Given the description of an element on the screen output the (x, y) to click on. 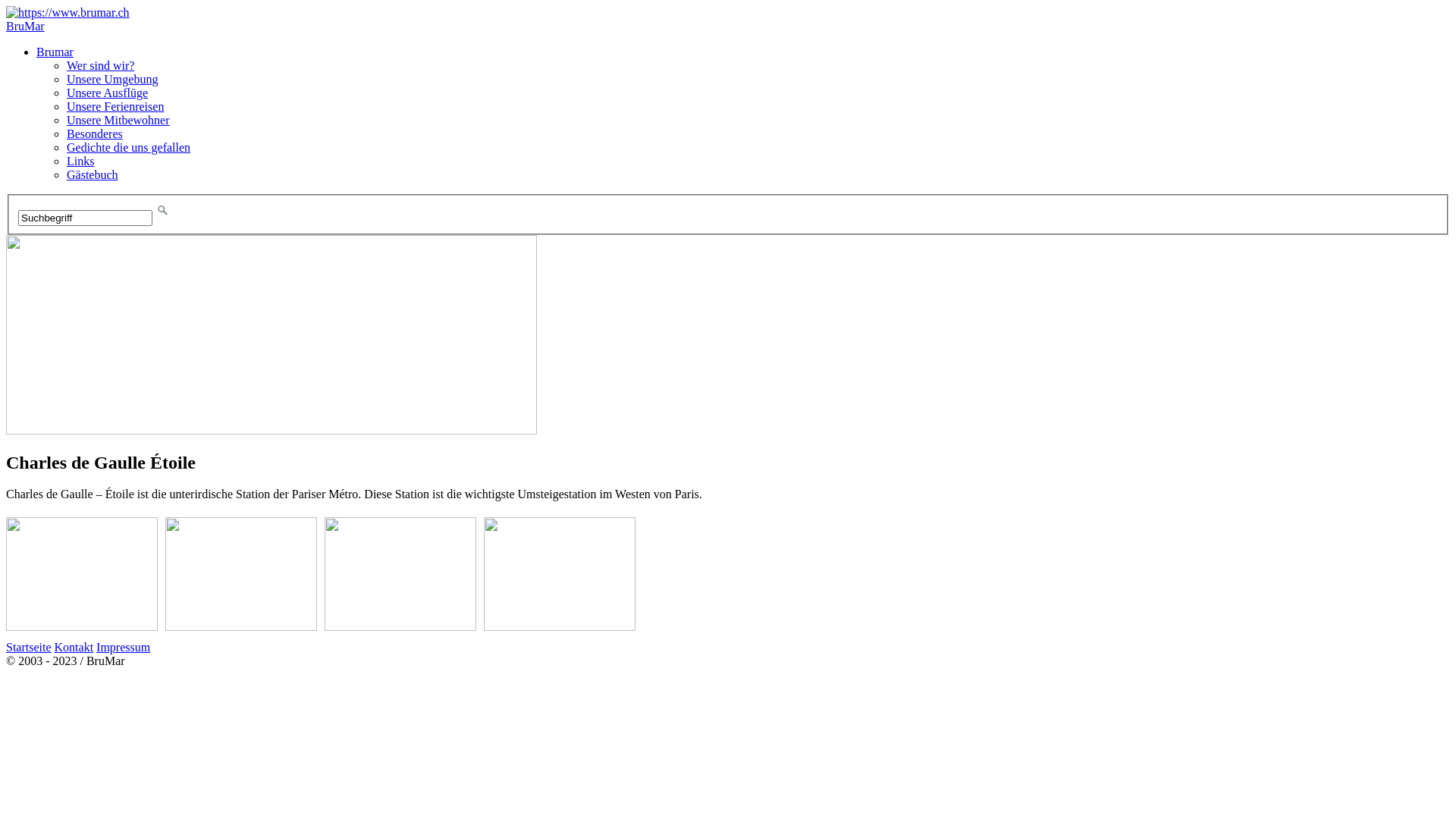
Unsere Mitbewohner Element type: text (117, 119)
Brumar Element type: text (54, 51)
BruMar Element type: text (25, 25)
Links Element type: text (80, 160)
Kontakt Element type: text (74, 646)
Startseite Element type: text (28, 646)
Unsere Umgebung Element type: text (111, 78)
Besonderes Element type: text (94, 133)
Impressum Element type: text (123, 646)
Unsere Ferienreisen Element type: text (114, 106)
Gedichte die uns gefallen Element type: text (128, 147)
Wer sind wir? Element type: text (100, 65)
